Given the description of an element on the screen output the (x, y) to click on. 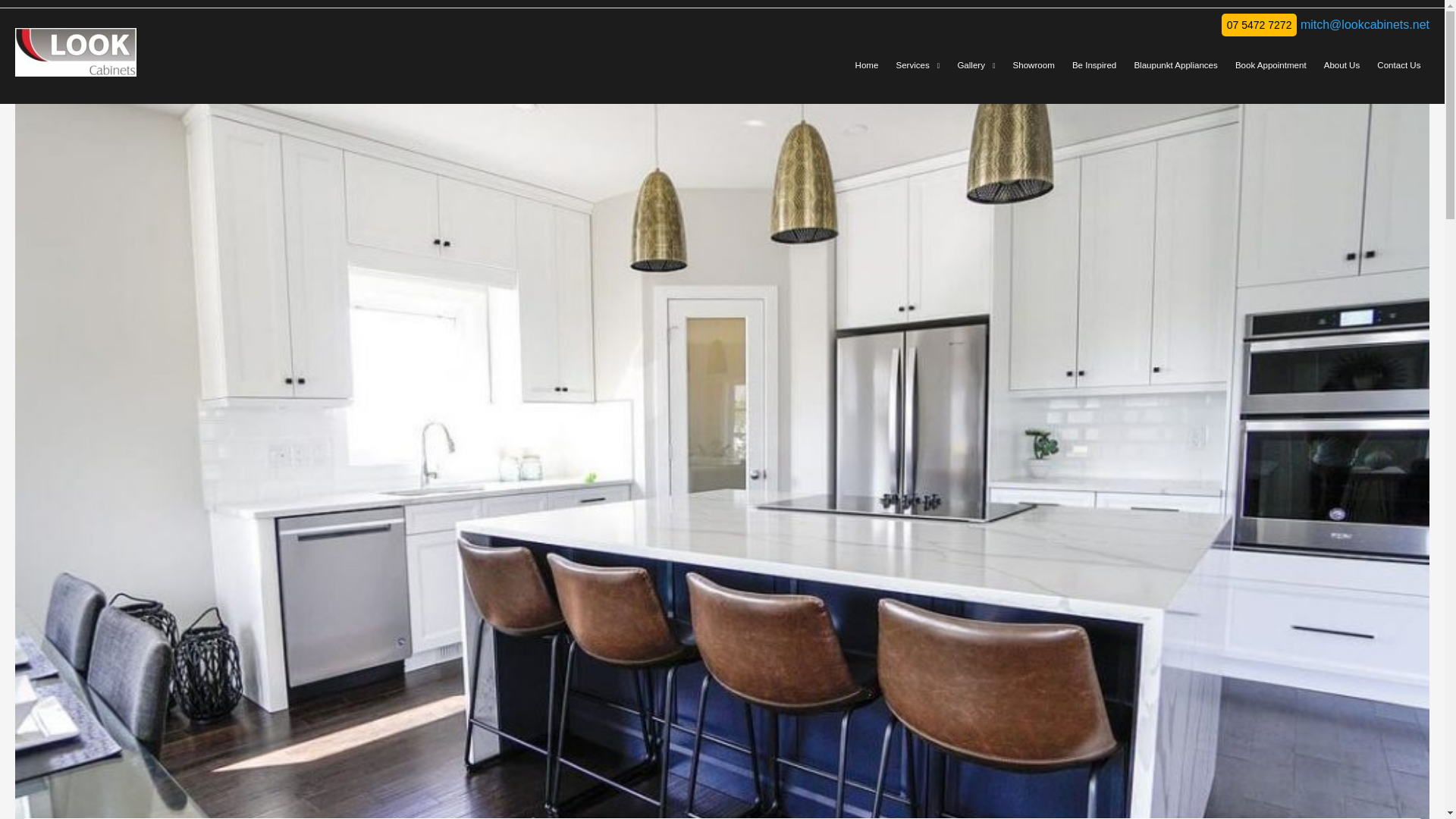
Services (917, 64)
Gallery (976, 64)
07 5472 7272 (1259, 24)
Contact Us (1398, 64)
Blaupunkt Appliances (1176, 64)
Book Appointment (1269, 64)
Showroom (1033, 64)
Home (865, 64)
About Us (1341, 64)
Be Inspired (1093, 64)
